Given the description of an element on the screen output the (x, y) to click on. 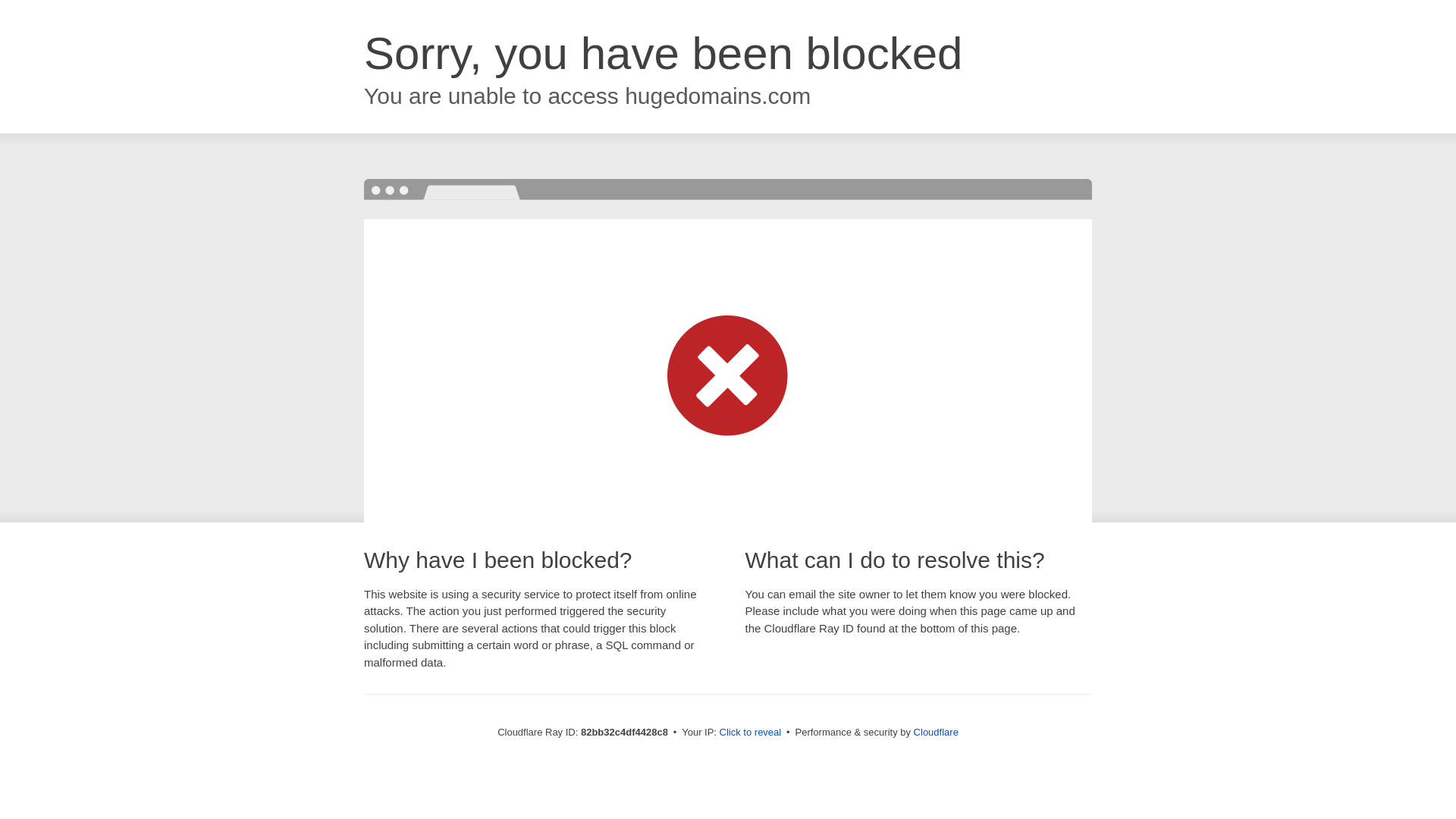
Cloudflare Element type: text (935, 731)
Click to reveal Element type: text (750, 732)
